Given the description of an element on the screen output the (x, y) to click on. 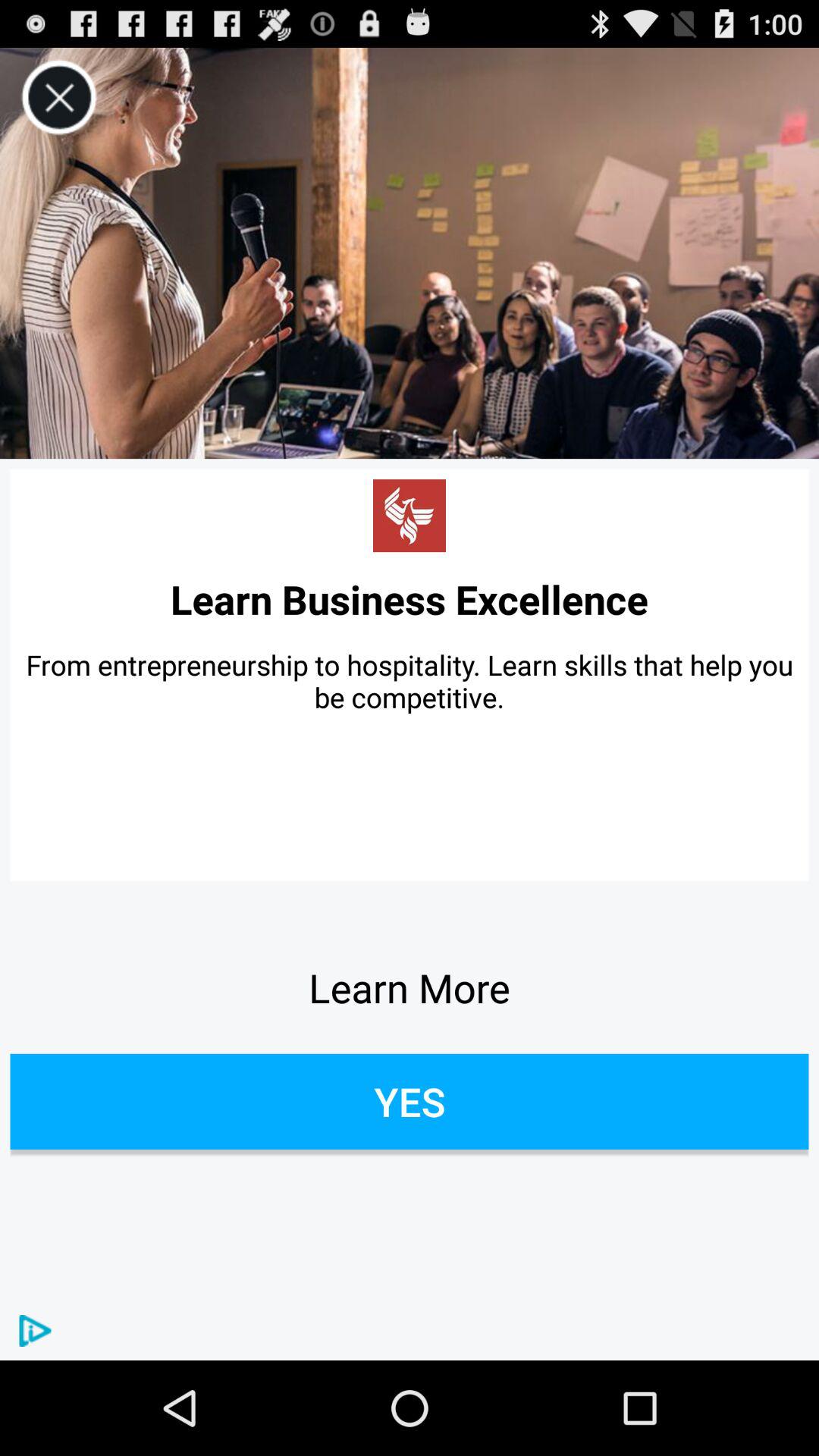
press learn business excellence (409, 598)
